Given the description of an element on the screen output the (x, y) to click on. 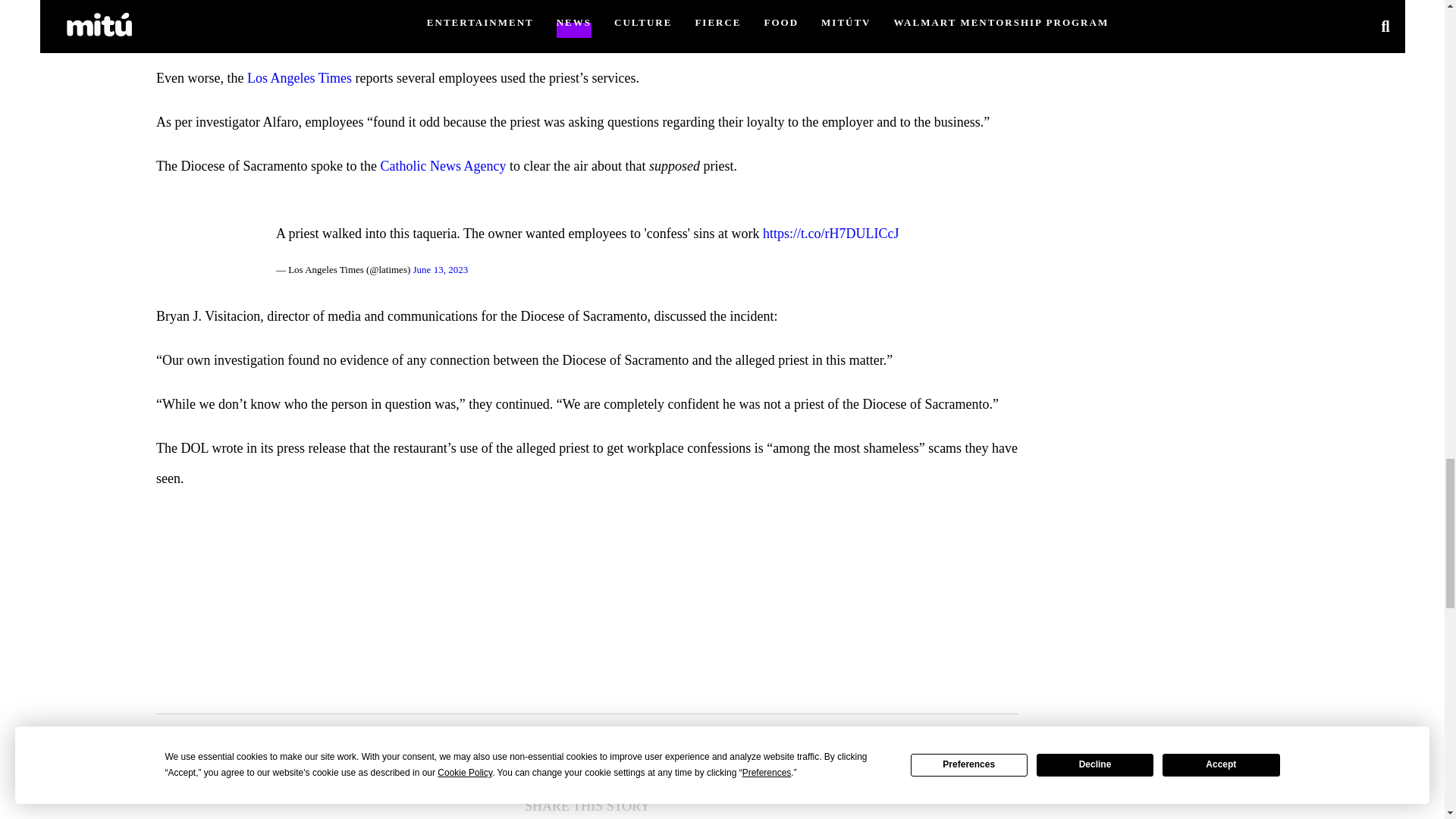
Other reports (678, 5)
June 13, 2023 (440, 269)
Catholic News Agency (443, 165)
TACO (356, 732)
Los Angeles Times (299, 77)
